Given the description of an element on the screen output the (x, y) to click on. 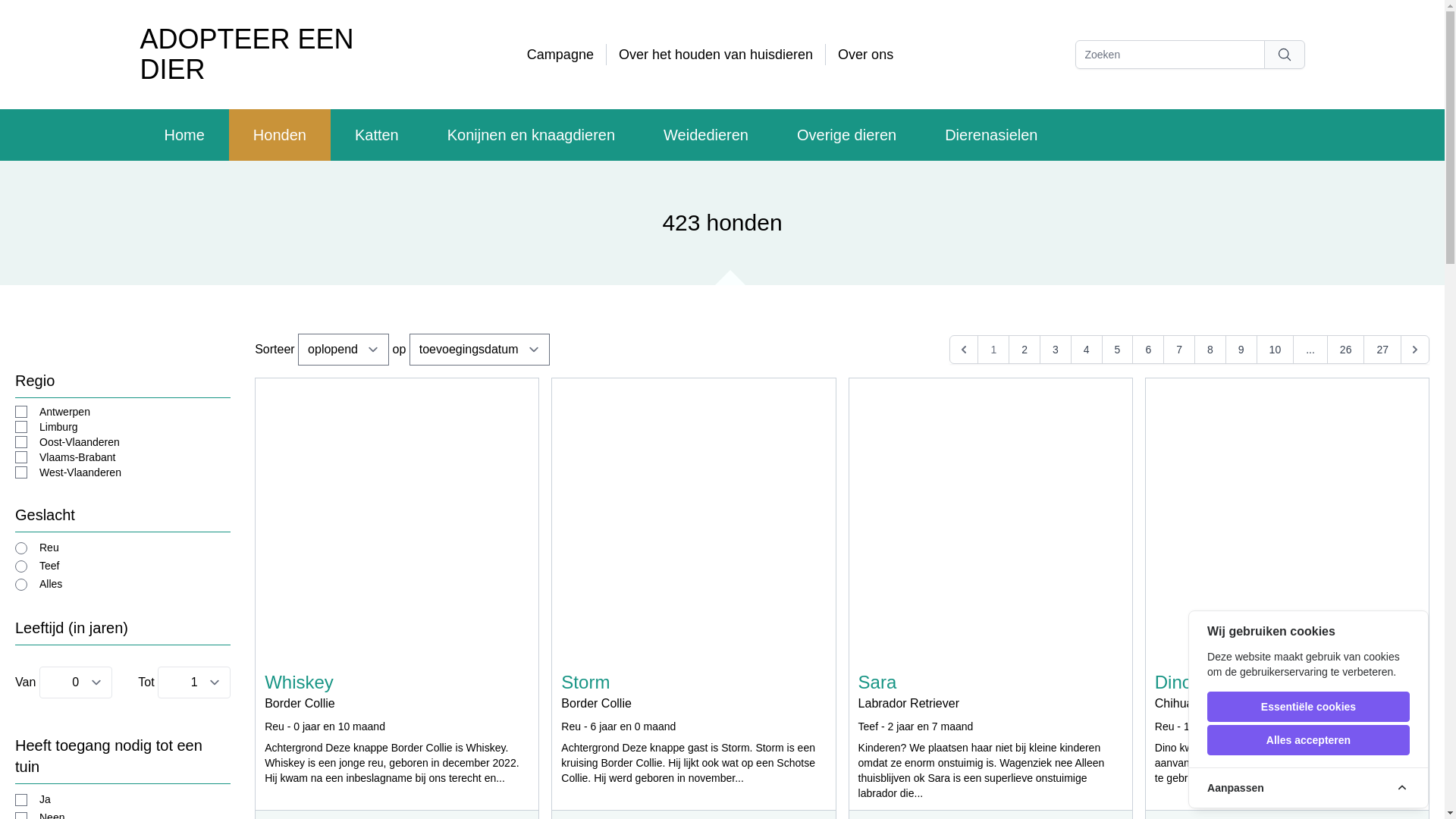
5 Element type: text (1117, 349)
Konijnen en knaagdieren Element type: text (531, 134)
2 Element type: text (1024, 349)
Overige dieren Element type: text (846, 134)
9 Element type: text (1241, 349)
10 Element type: text (1275, 349)
Alles accepteren Element type: text (1308, 739)
3 Element type: text (1055, 349)
27 Element type: text (1382, 349)
Home Element type: text (183, 134)
ADOPTEER EEN DIER Element type: text (280, 54)
Weidedieren Element type: text (705, 134)
26 Element type: text (1346, 349)
Over het houden van huisdieren Element type: text (715, 54)
Dierenasielen Element type: text (990, 134)
Aanpassen Element type: text (1308, 787)
7 Element type: text (1179, 349)
6 Element type: text (1148, 349)
8 Element type: text (1210, 349)
4 Element type: text (1086, 349)
Katten Element type: text (376, 134)
Over ons Element type: text (865, 54)
Honden Element type: text (279, 134)
Campagne Element type: text (560, 54)
